Given the description of an element on the screen output the (x, y) to click on. 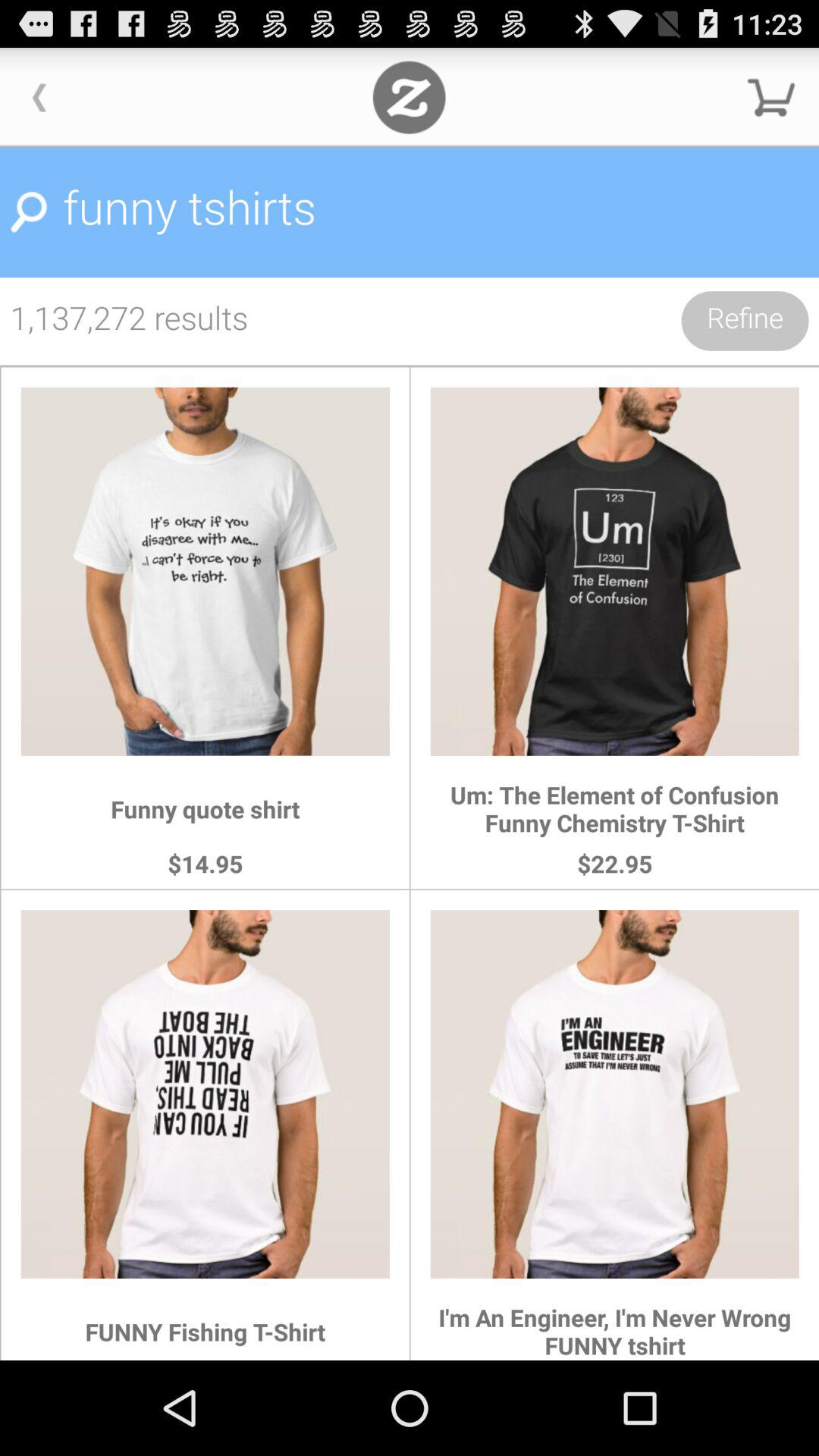
click the item next to 1 137 272 icon (744, 320)
